Given the description of an element on the screen output the (x, y) to click on. 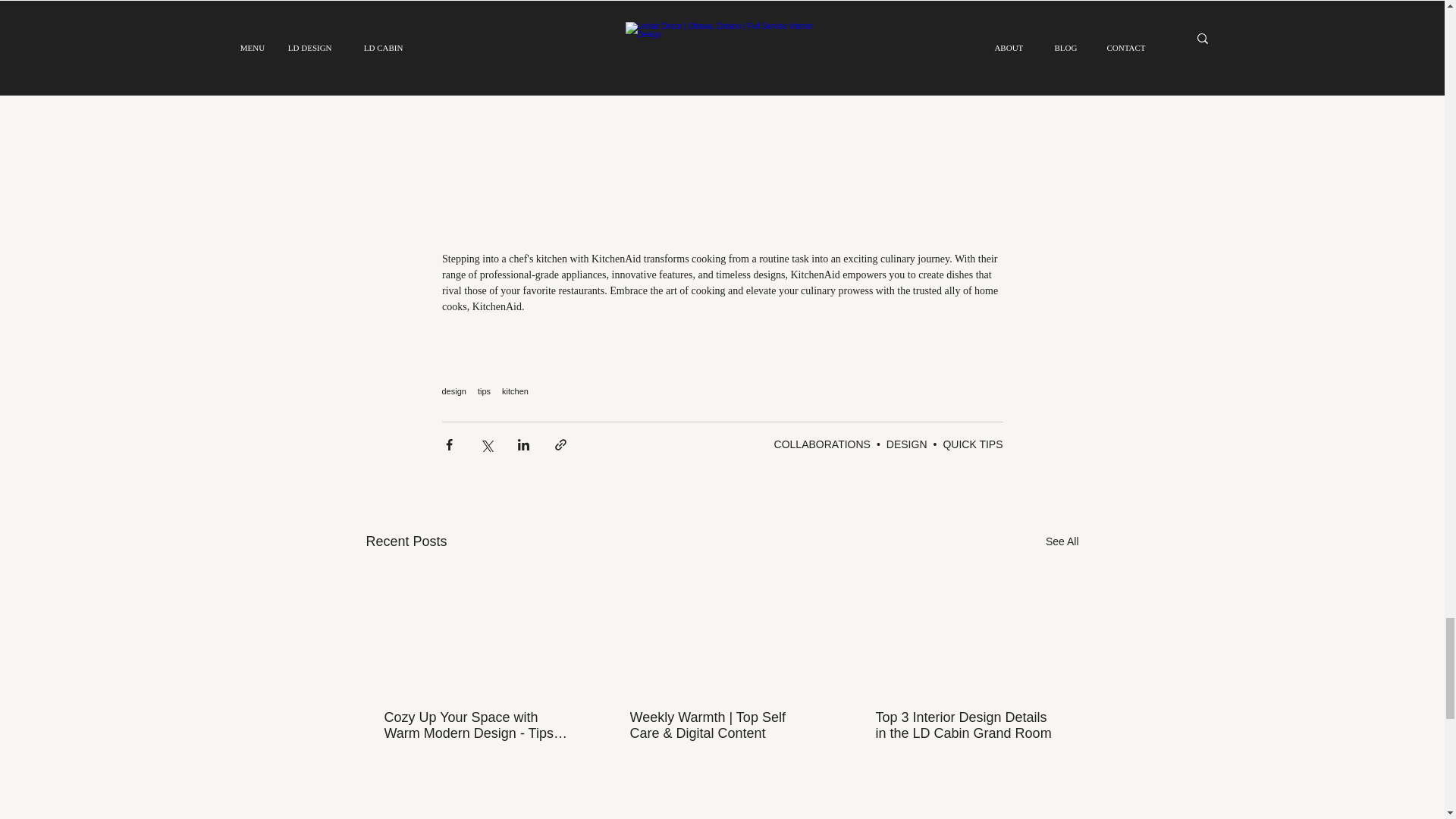
design (453, 390)
Top 3 Interior Design Details in the LD Cabin Grand Room (966, 726)
COLLABORATIONS (822, 444)
See All (1061, 541)
QUICK TIPS (972, 444)
DESIGN (906, 444)
tips (483, 390)
kitchen (515, 390)
